Given the description of an element on the screen output the (x, y) to click on. 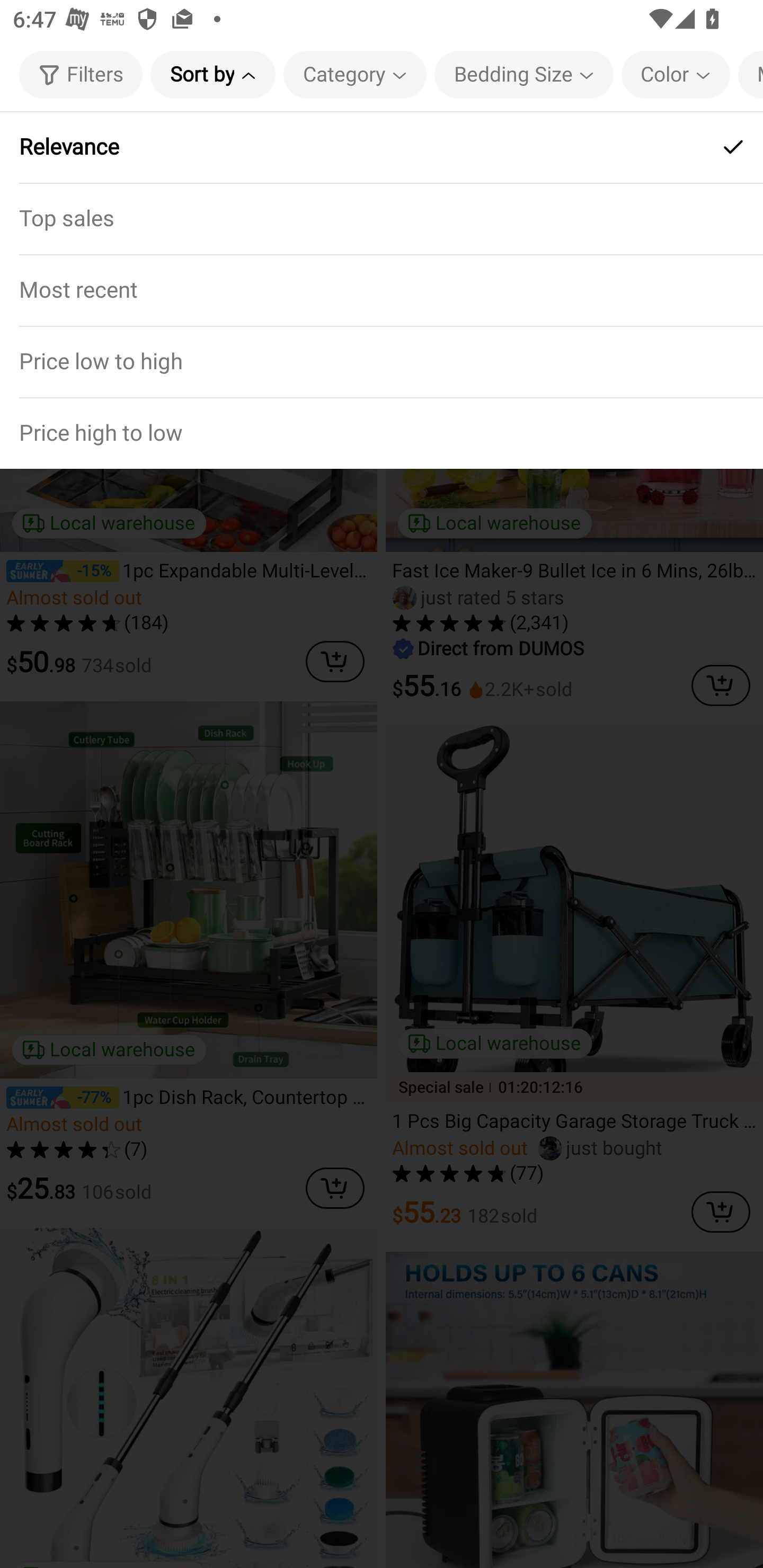
Filters (80, 74)
Sort by (212, 74)
Category (354, 74)
Bedding Size (523, 74)
Color (675, 74)
Relevance (381, 147)
Top sales (381, 218)
Most recent (381, 290)
Price low to high (381, 361)
Price high to low (381, 432)
